Given the description of an element on the screen output the (x, y) to click on. 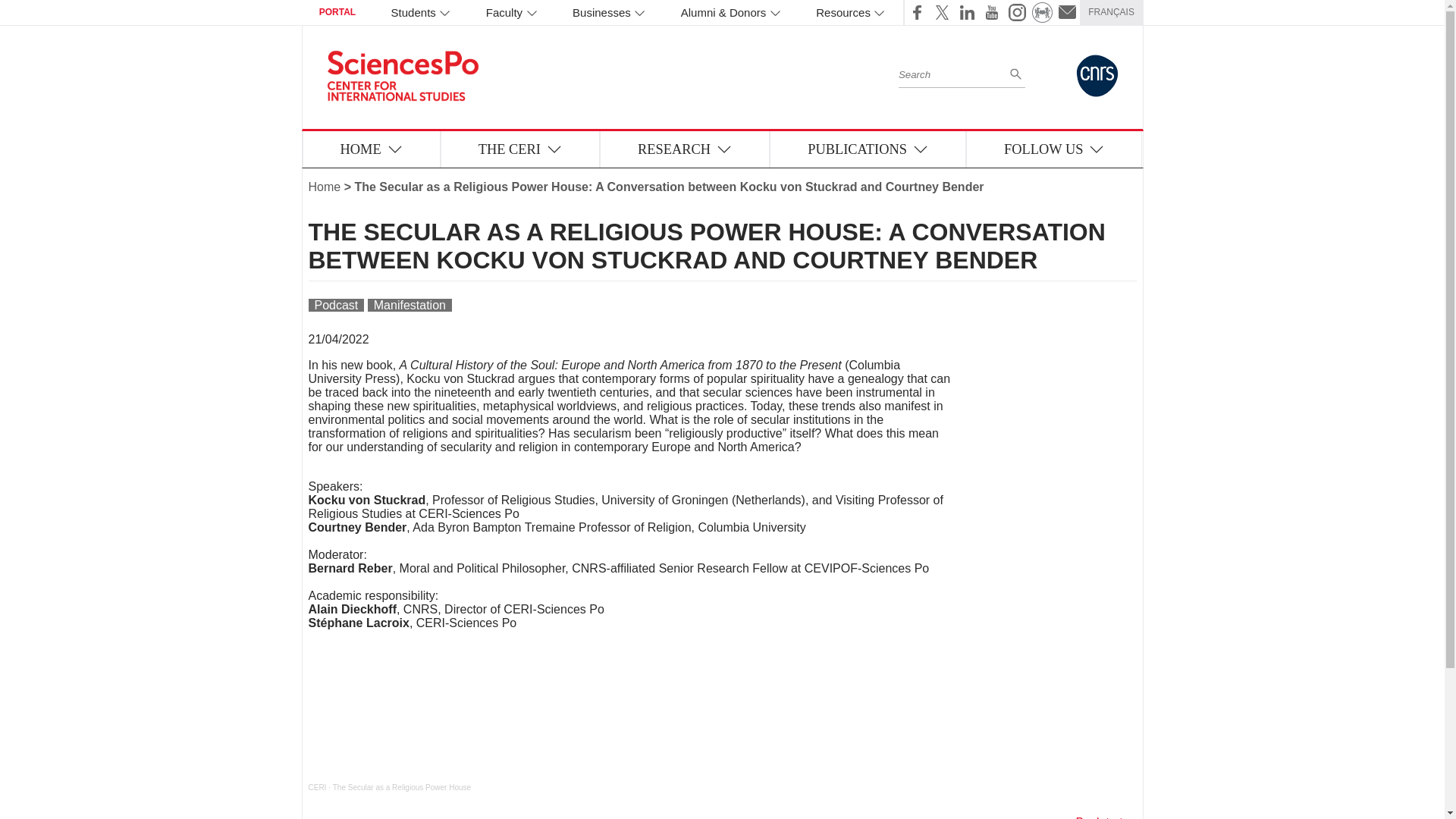
Search website (952, 73)
Faculty (511, 12)
Search (1015, 73)
PORTAL (337, 12)
Compte Instagram de Sciences Po (1016, 12)
Compte Twitter de Sciences Po (942, 12)
CERI - open in new window (316, 786)
Podcast (335, 305)
Page Sciences Po sur YouTube (991, 12)
Manifestation (409, 305)
Newsletter (1067, 12)
Businesses (608, 12)
Resources (849, 12)
Sciences Po portal (1041, 12)
follow us - open in new window (1053, 149)
